Given the description of an element on the screen output the (x, y) to click on. 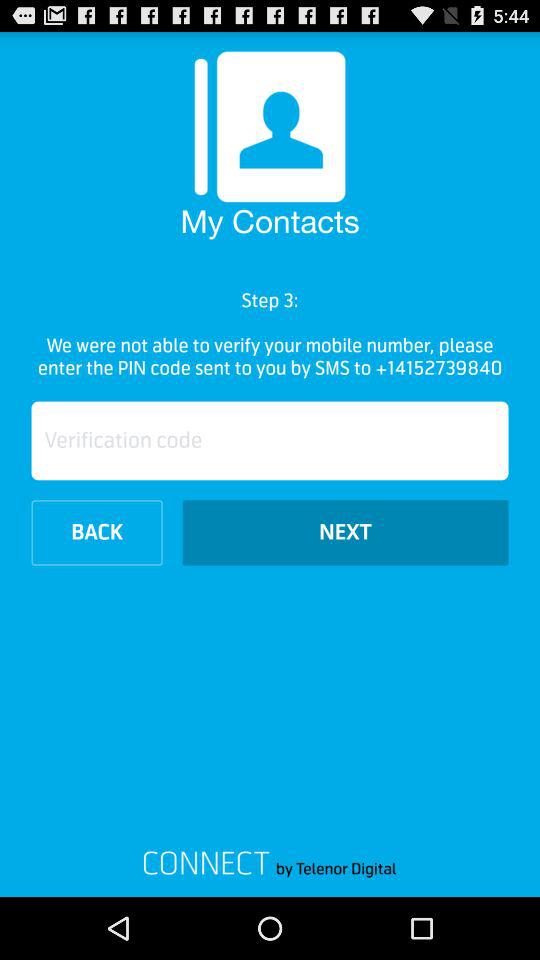
place to enter verification code (269, 440)
